Given the description of an element on the screen output the (x, y) to click on. 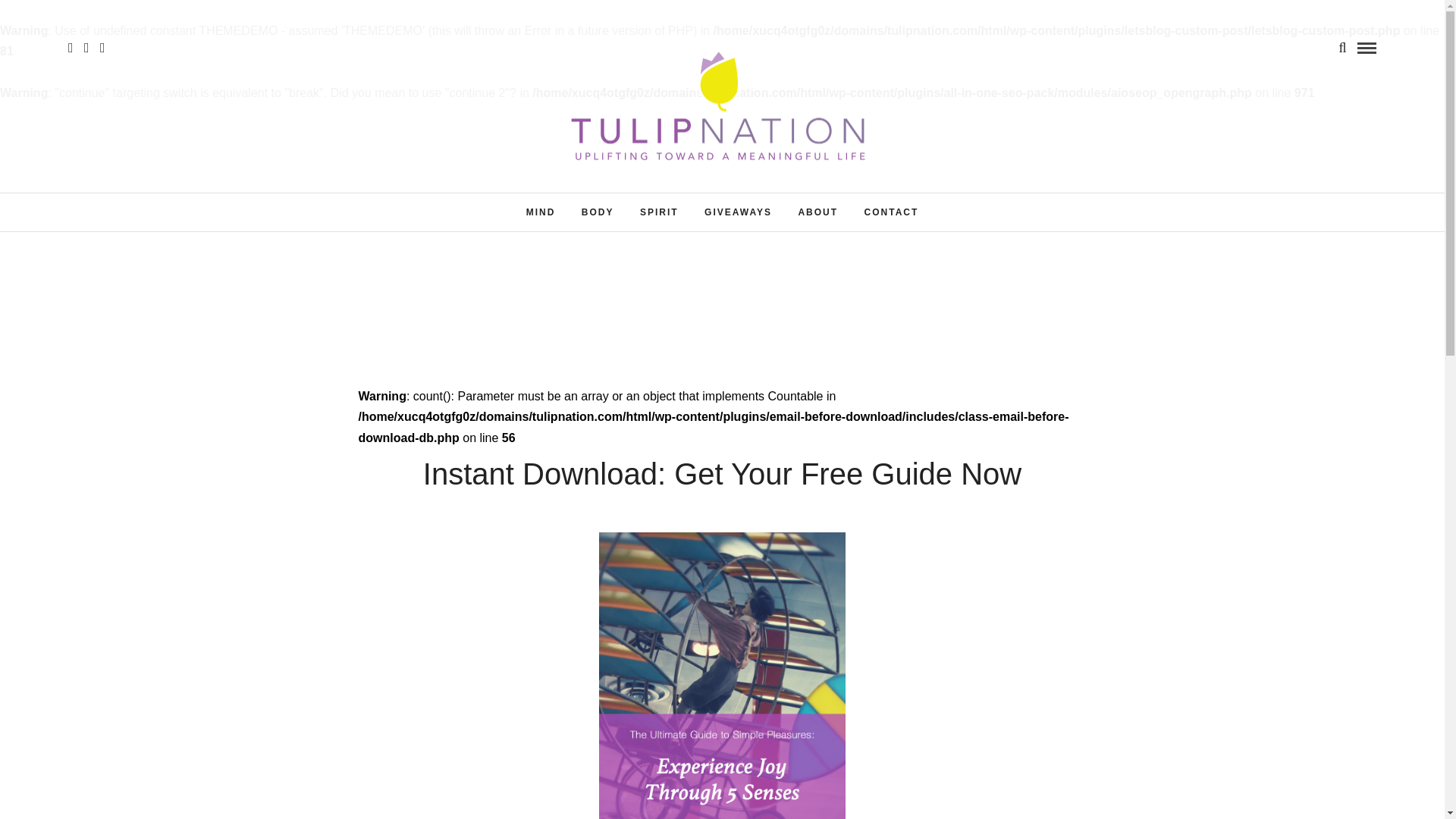
SPIRIT (659, 211)
BODY (598, 211)
GIVEAWAYS (738, 211)
ABOUT (817, 211)
MIND (541, 211)
CONTACT (891, 211)
